Given the description of an element on the screen output the (x, y) to click on. 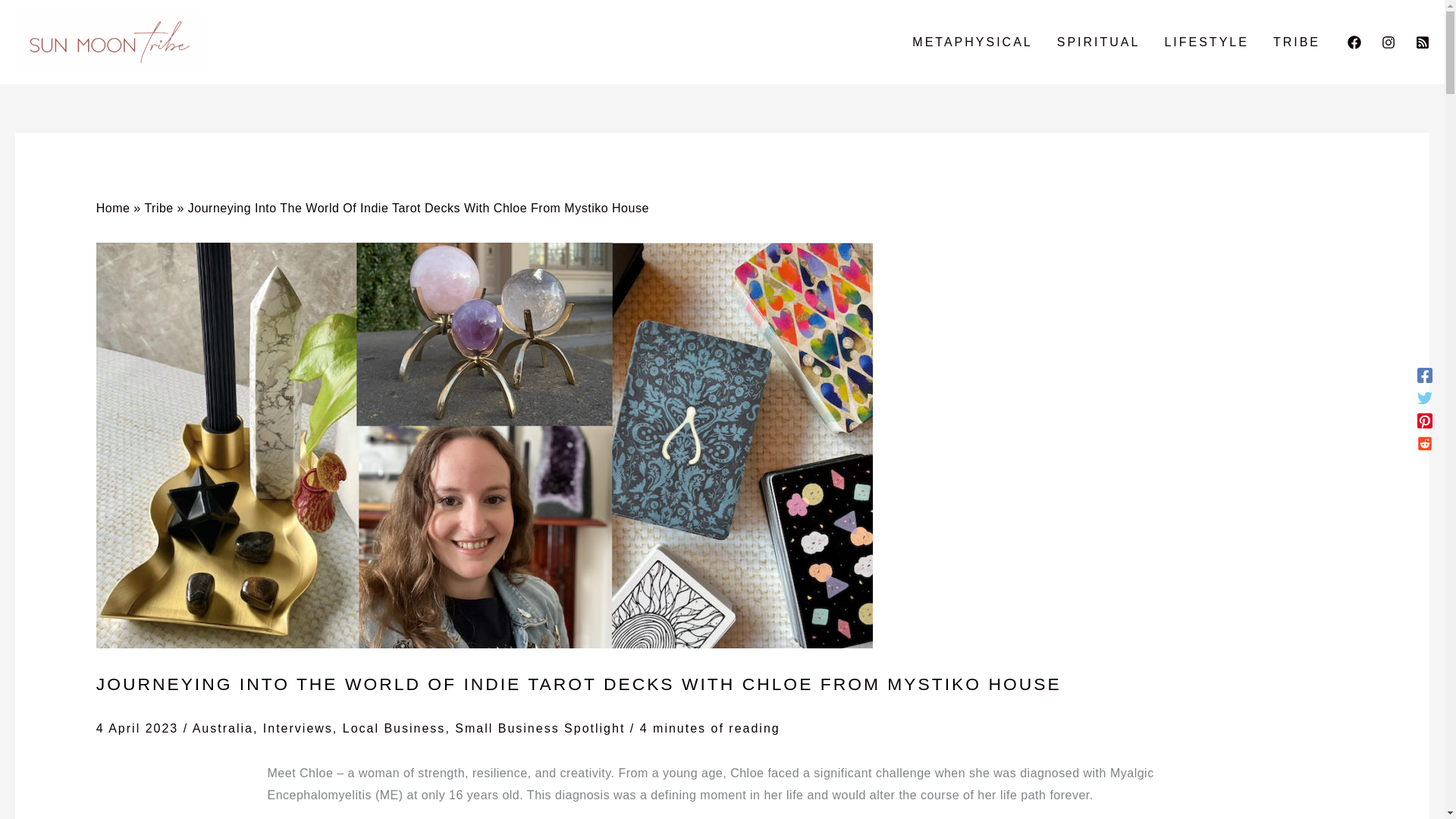
TRIBE (1296, 42)
Home (113, 207)
METAPHYSICAL (971, 42)
Australia (222, 727)
Tribe (158, 207)
Small Business Spotlight (539, 727)
Interviews (298, 727)
SPIRITUAL (1099, 42)
Local Business (393, 727)
LIFESTYLE (1205, 42)
